Given the description of an element on the screen output the (x, y) to click on. 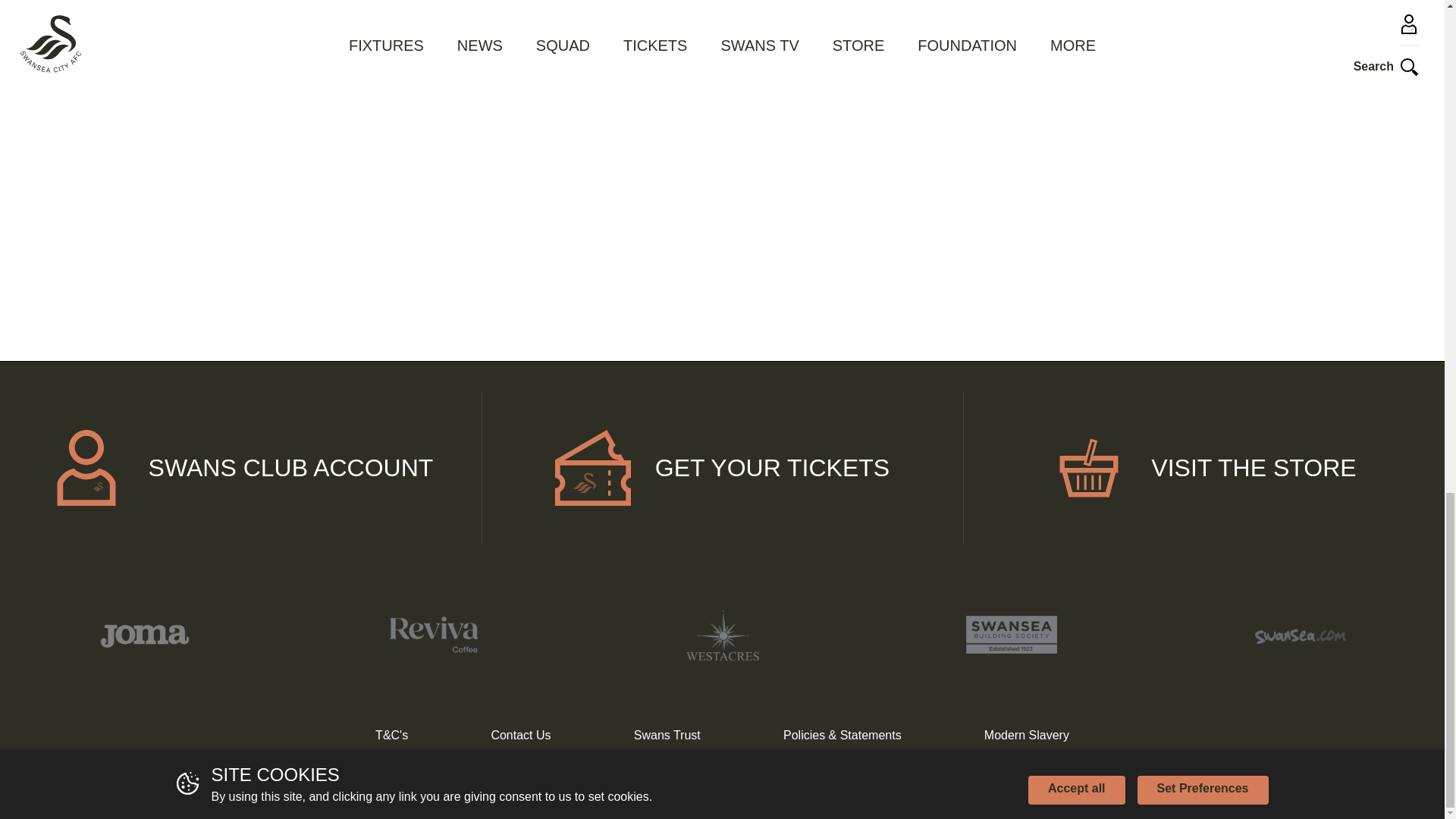
3rd party ad content (721, 36)
Swansea sponsor (722, 634)
3rd party ad content (1085, 191)
3rd party ad content (721, 191)
Swansea sponsor (432, 634)
Sign up or log into Swans Club Account (240, 467)
3rd party ad content (357, 36)
Swansea sponsor (144, 634)
3rd party ad content (1085, 36)
3rd party ad content (357, 191)
